Given the description of an element on the screen output the (x, y) to click on. 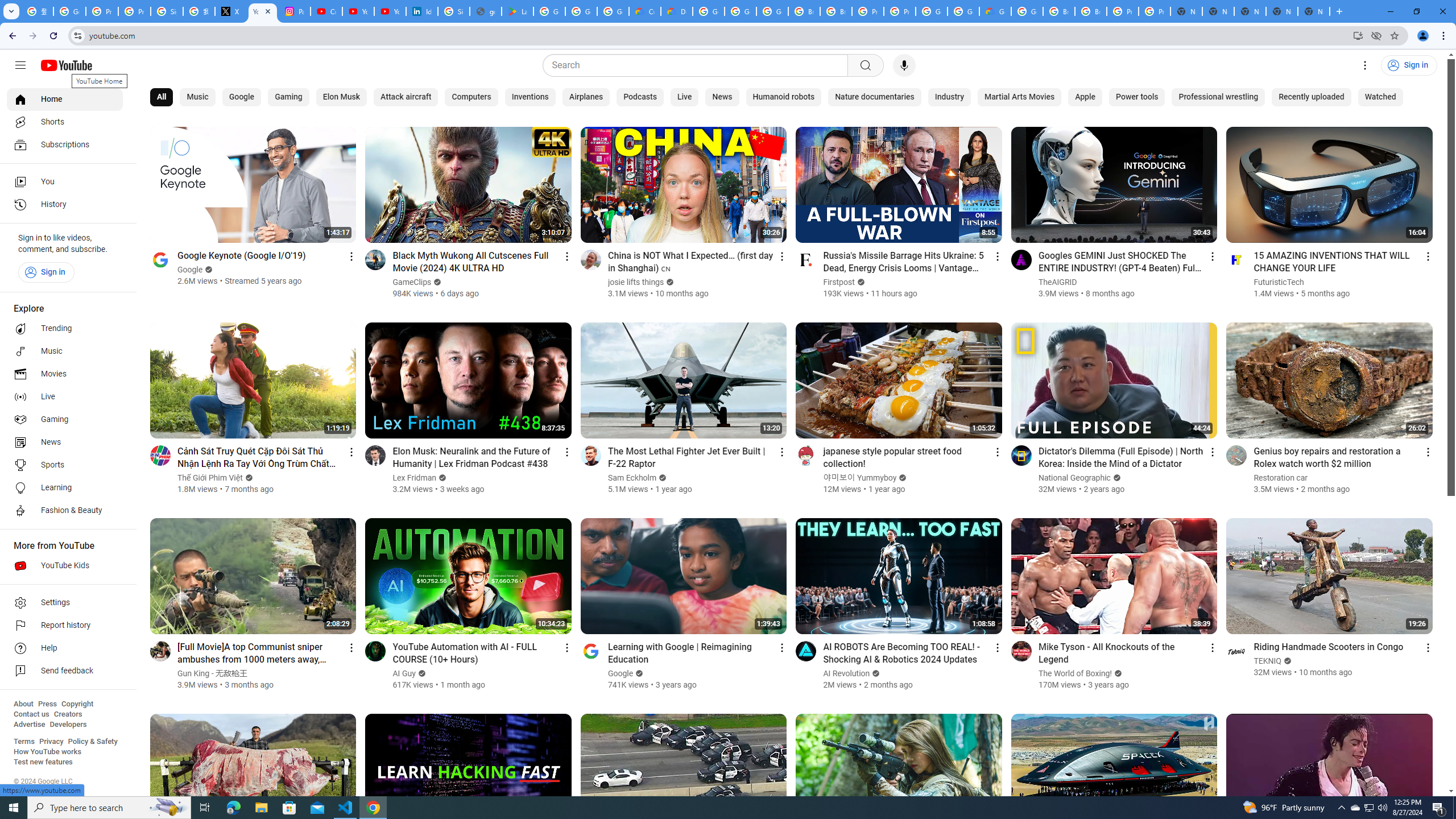
YouTube (262, 11)
Live (64, 396)
Lex Fridman (414, 477)
Report history (64, 625)
AI Guy (404, 673)
Watched (1379, 97)
